Given the description of an element on the screen output the (x, y) to click on. 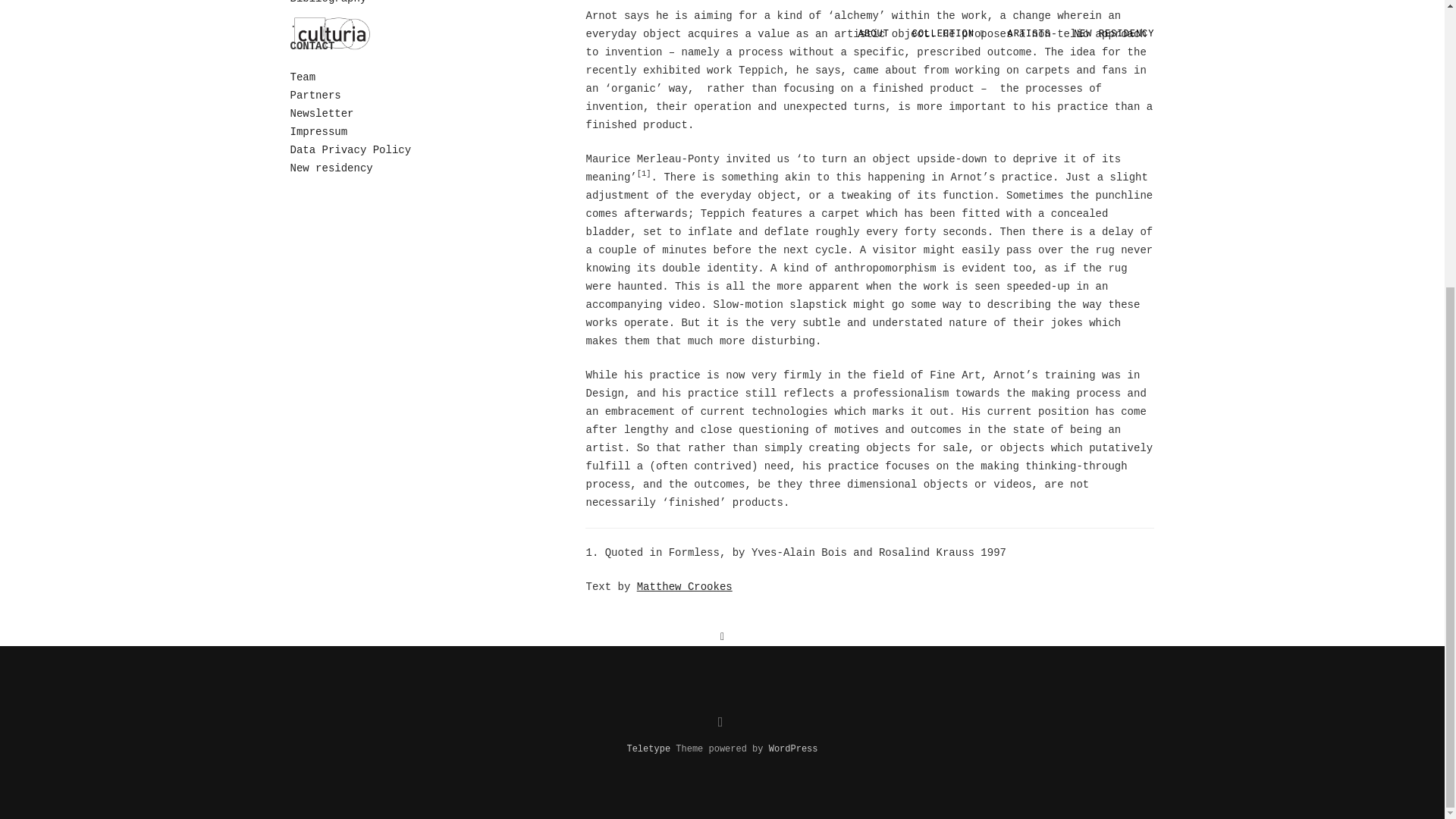
Teletype (647, 748)
Newsletter (321, 113)
Matthew Crookes (684, 586)
Team (302, 77)
Data Privacy Policy (349, 150)
Partners (314, 95)
New residency (330, 168)
Bibliography (327, 2)
Impressum (318, 132)
WordPress (793, 748)
